Given the description of an element on the screen output the (x, y) to click on. 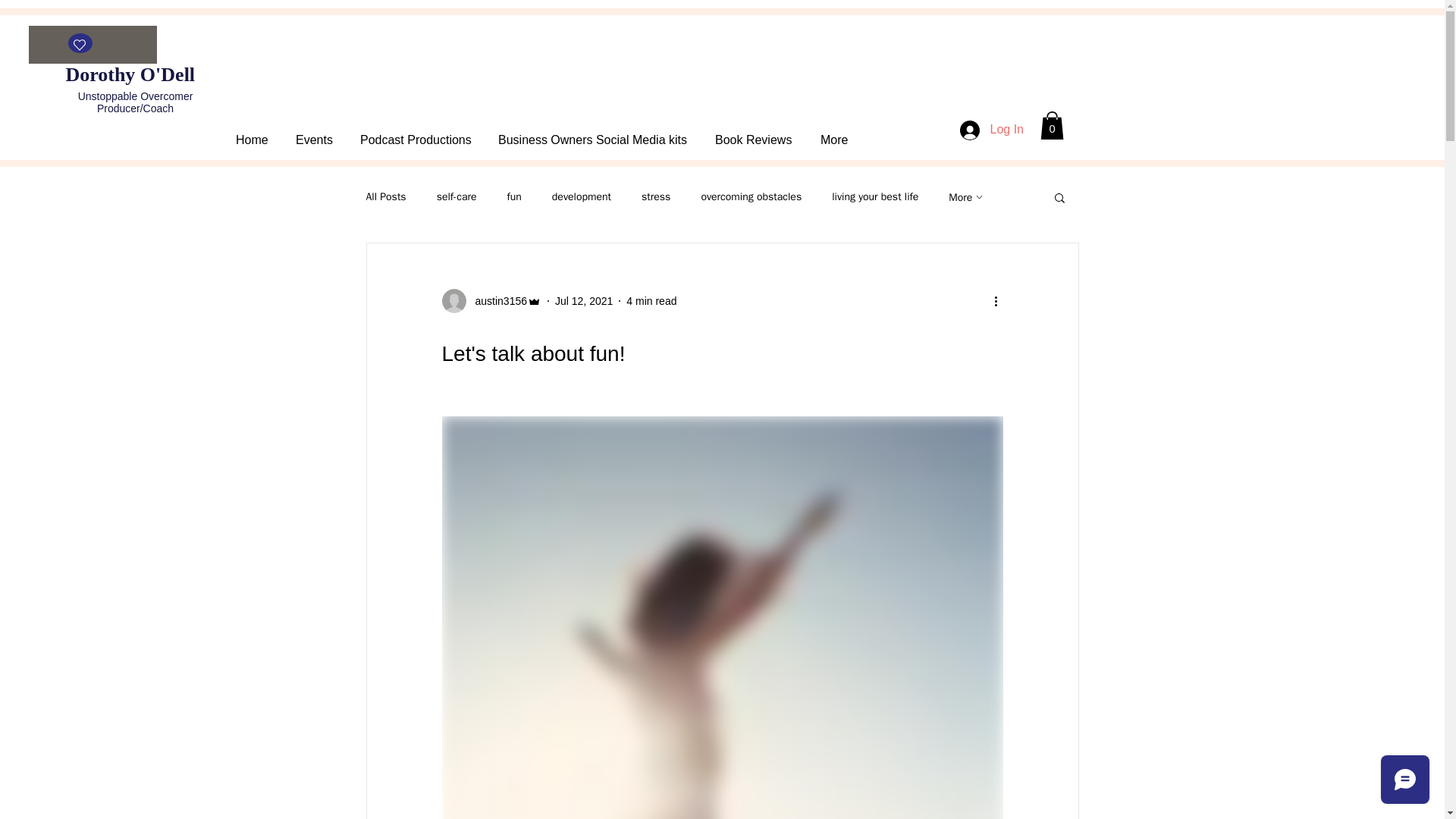
All Posts (385, 196)
fun (513, 196)
overcoming obstacles (751, 196)
development (581, 196)
Log In (991, 129)
austin3156 (491, 300)
self-care (456, 196)
living your best life (874, 196)
Dorothy O'Dell  (132, 74)
Podcast Productions (415, 133)
